Given the description of an element on the screen output the (x, y) to click on. 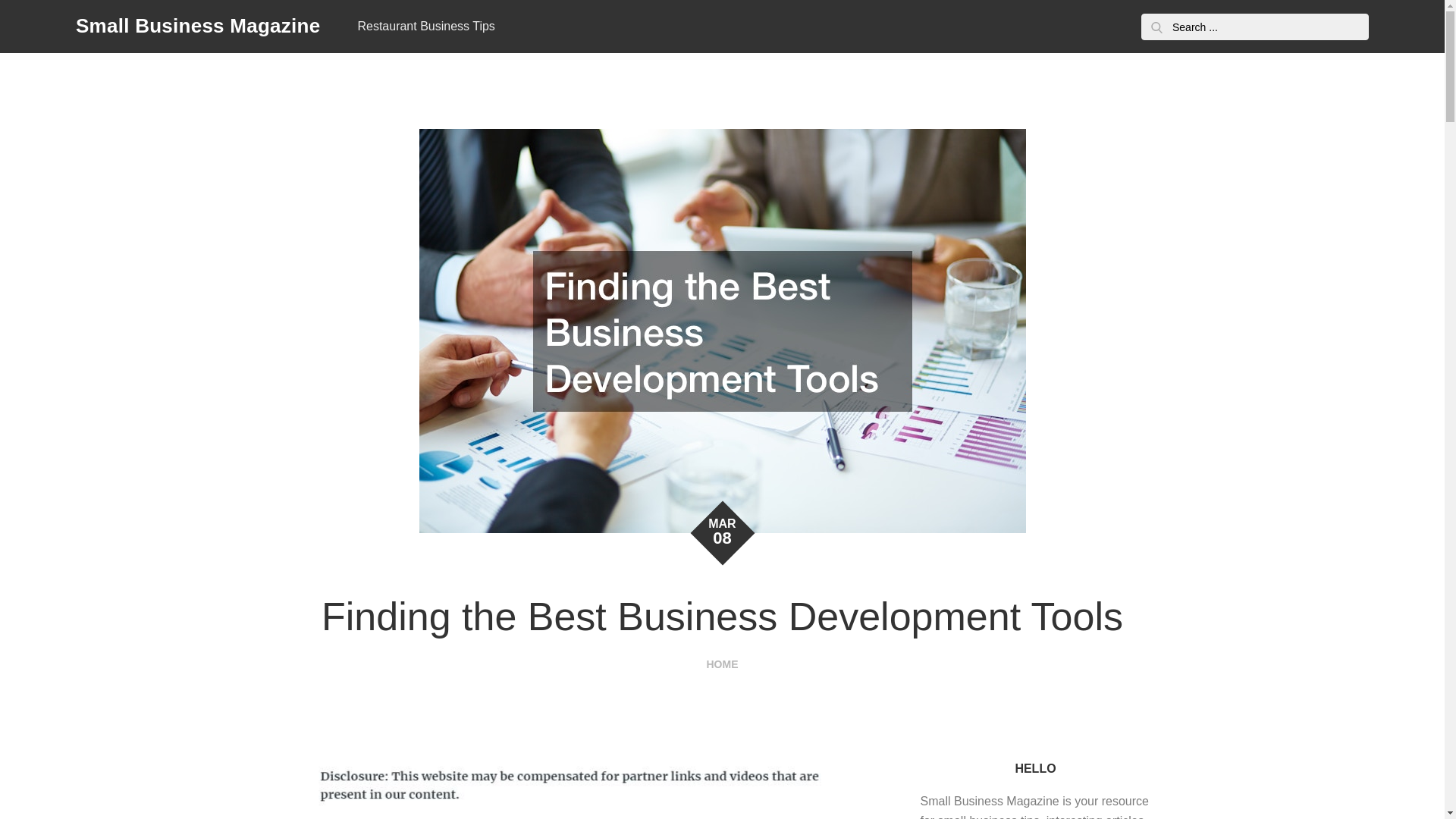
Search for: (1254, 26)
Small Business Magazine (197, 25)
HOME (722, 664)
Restaurant Business Tips (425, 26)
Search (1156, 26)
